Given the description of an element on the screen output the (x, y) to click on. 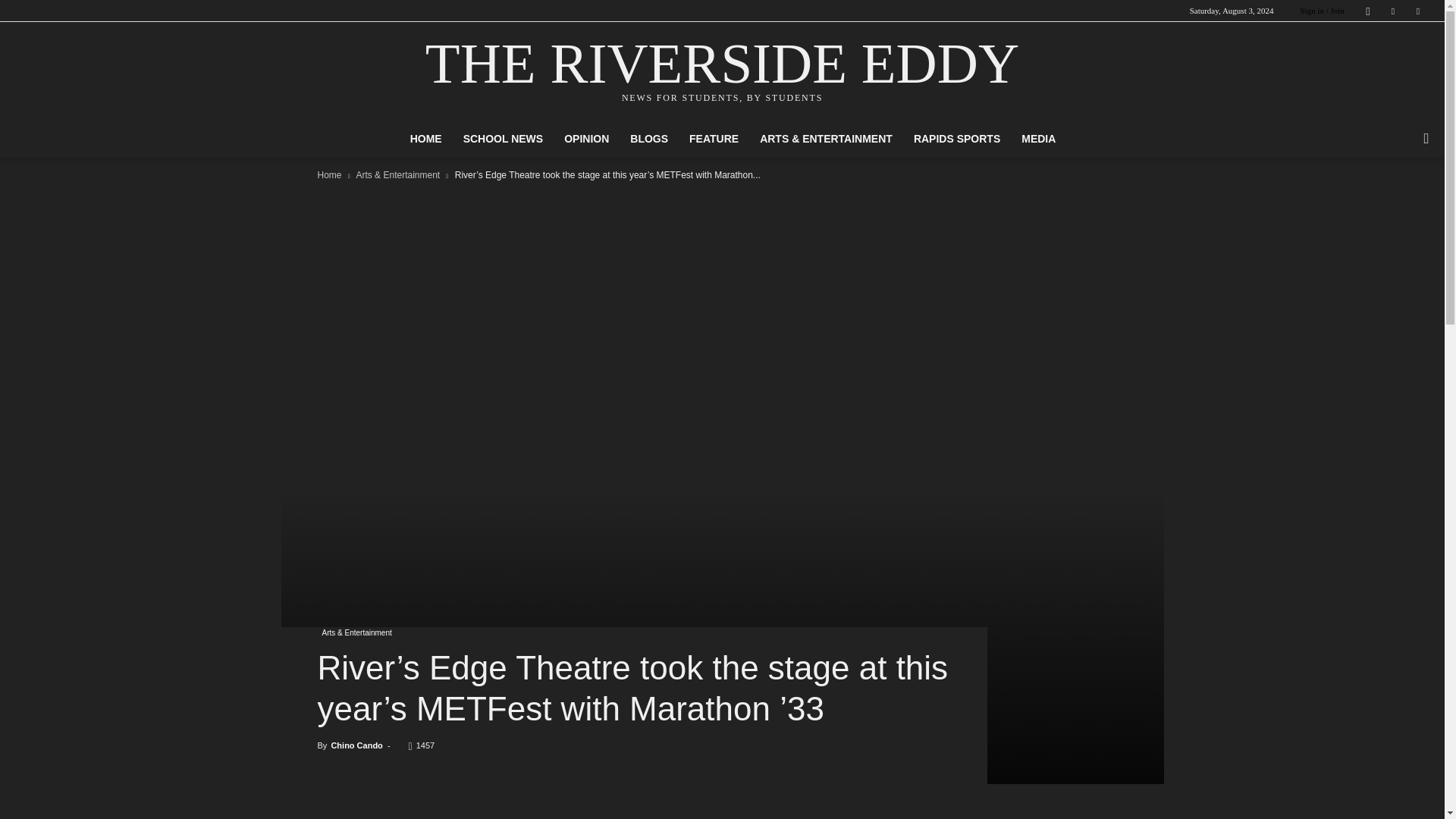
Twitter (1393, 10)
Instagram (1367, 10)
OPINION (586, 138)
BLOGS (649, 138)
Search (1395, 199)
Youtube (1417, 10)
SCHOOL NEWS (503, 138)
HOME (425, 138)
RAPIDS SPORTS (956, 138)
FEATURE (713, 138)
MEDIA (1037, 138)
THE RIVERSIDE EDDY NEWS FOR STUDENTS, BY STUDENTS (722, 72)
